Given the description of an element on the screen output the (x, y) to click on. 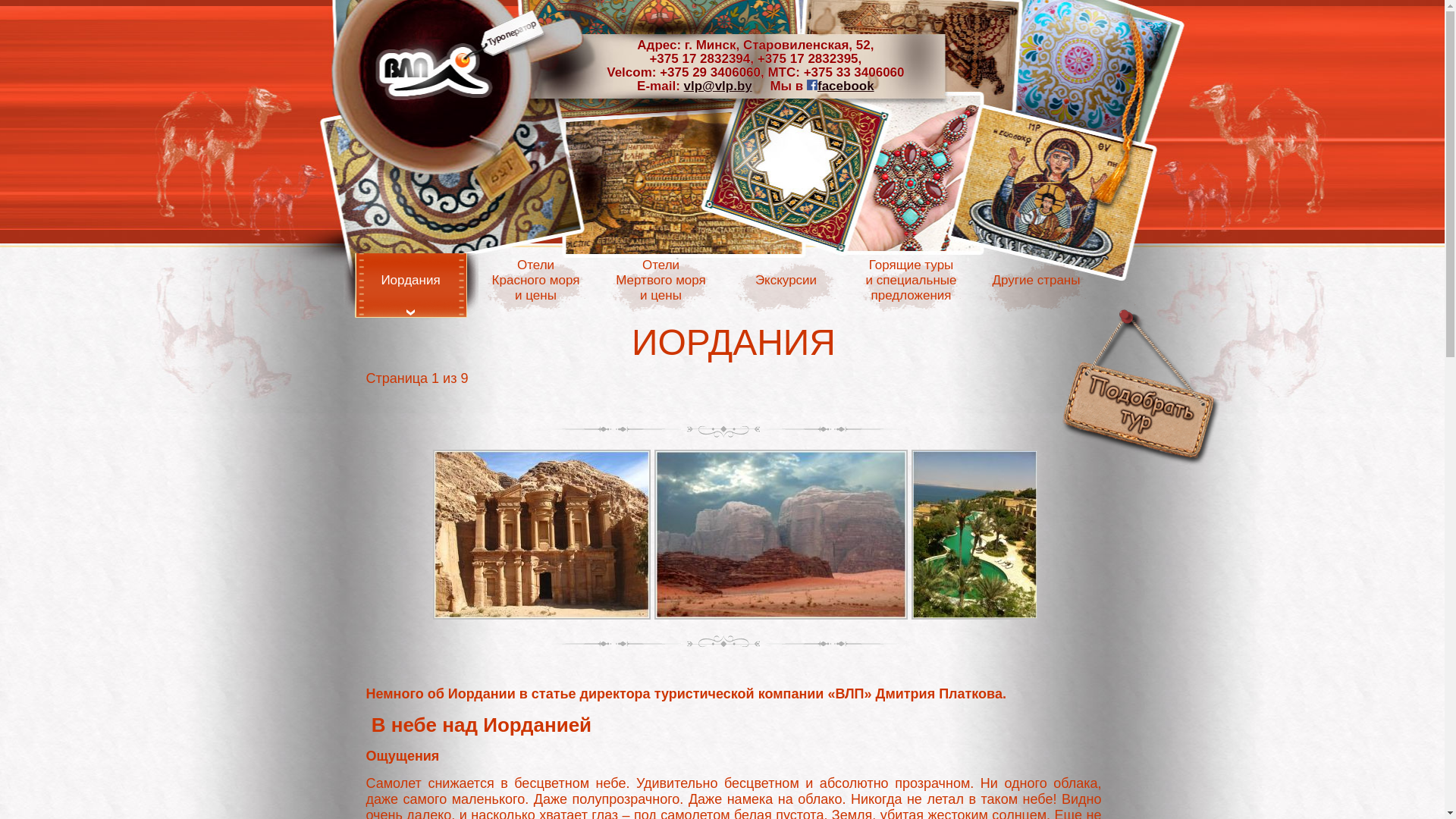
facebook Element type: text (840, 85)
vlp@vlp.by Element type: text (718, 85)
